Given the description of an element on the screen output the (x, y) to click on. 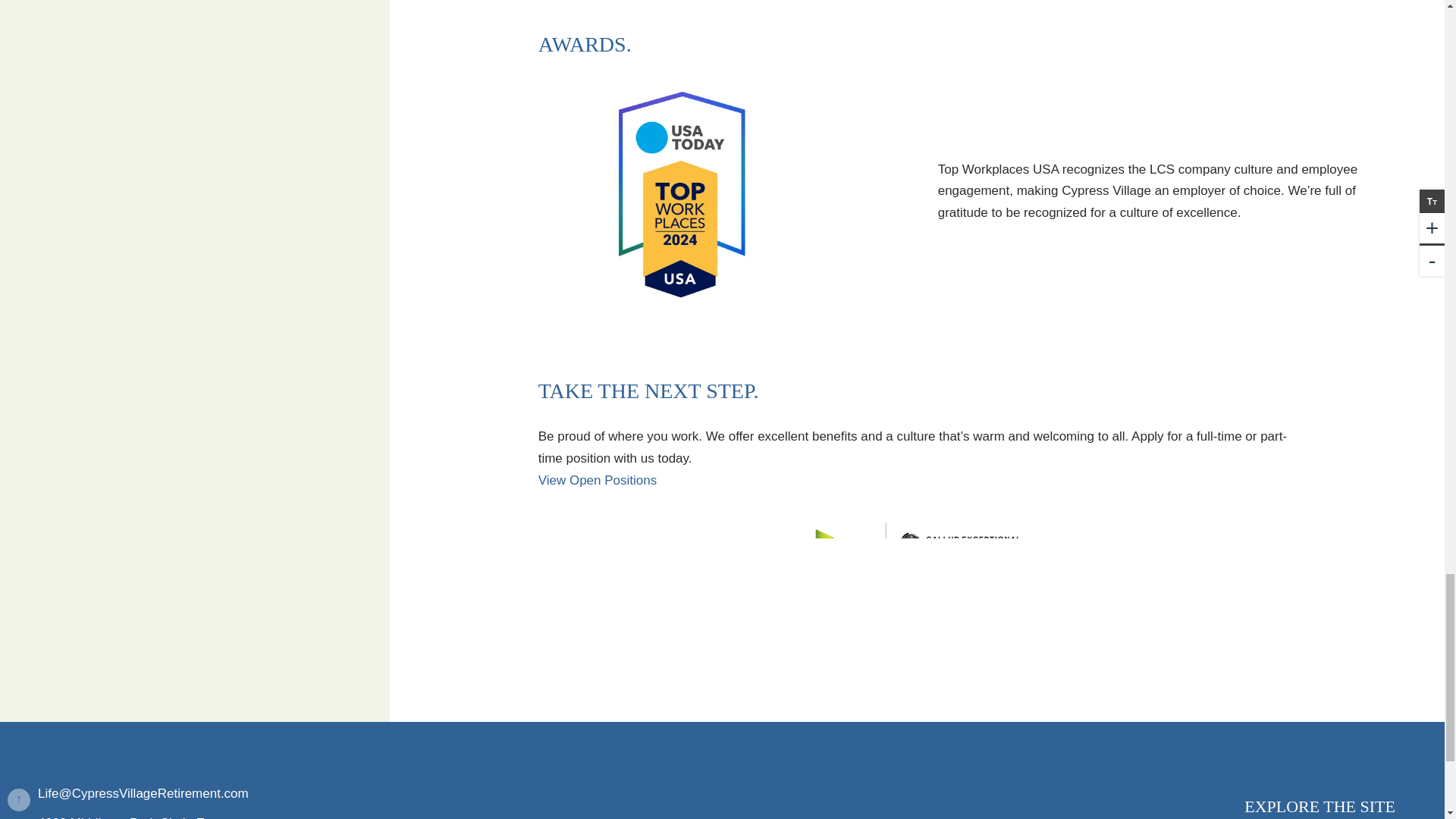
Link to Google Map (216, 816)
View Open Positions (598, 480)
hpeak-cyvill-logo-white (216, 755)
